Given the description of an element on the screen output the (x, y) to click on. 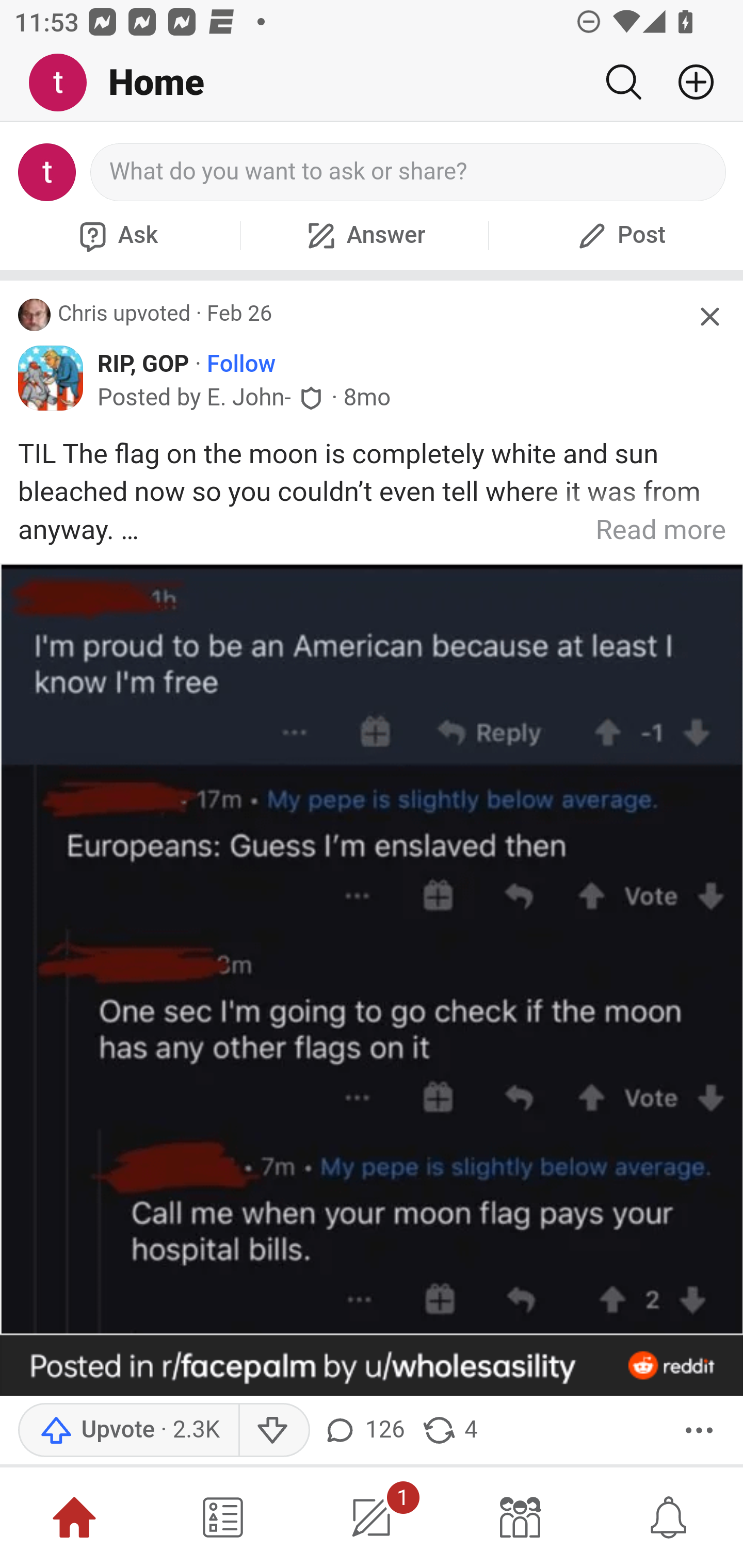
Me (64, 83)
Search (623, 82)
Add (688, 82)
What do you want to ask or share? (408, 172)
Ask (116, 234)
Answer (364, 234)
Post (618, 234)
Hide (709, 316)
Profile photo for Chris Harrington (34, 314)
Icon for RIP, GOP (50, 377)
RIP, GOP (143, 362)
Follow (240, 363)
Upvote (127, 1430)
Downvote (273, 1430)
126 comments (365, 1430)
4 shares (449, 1430)
More (699, 1430)
1 (371, 1517)
